Given the description of an element on the screen output the (x, y) to click on. 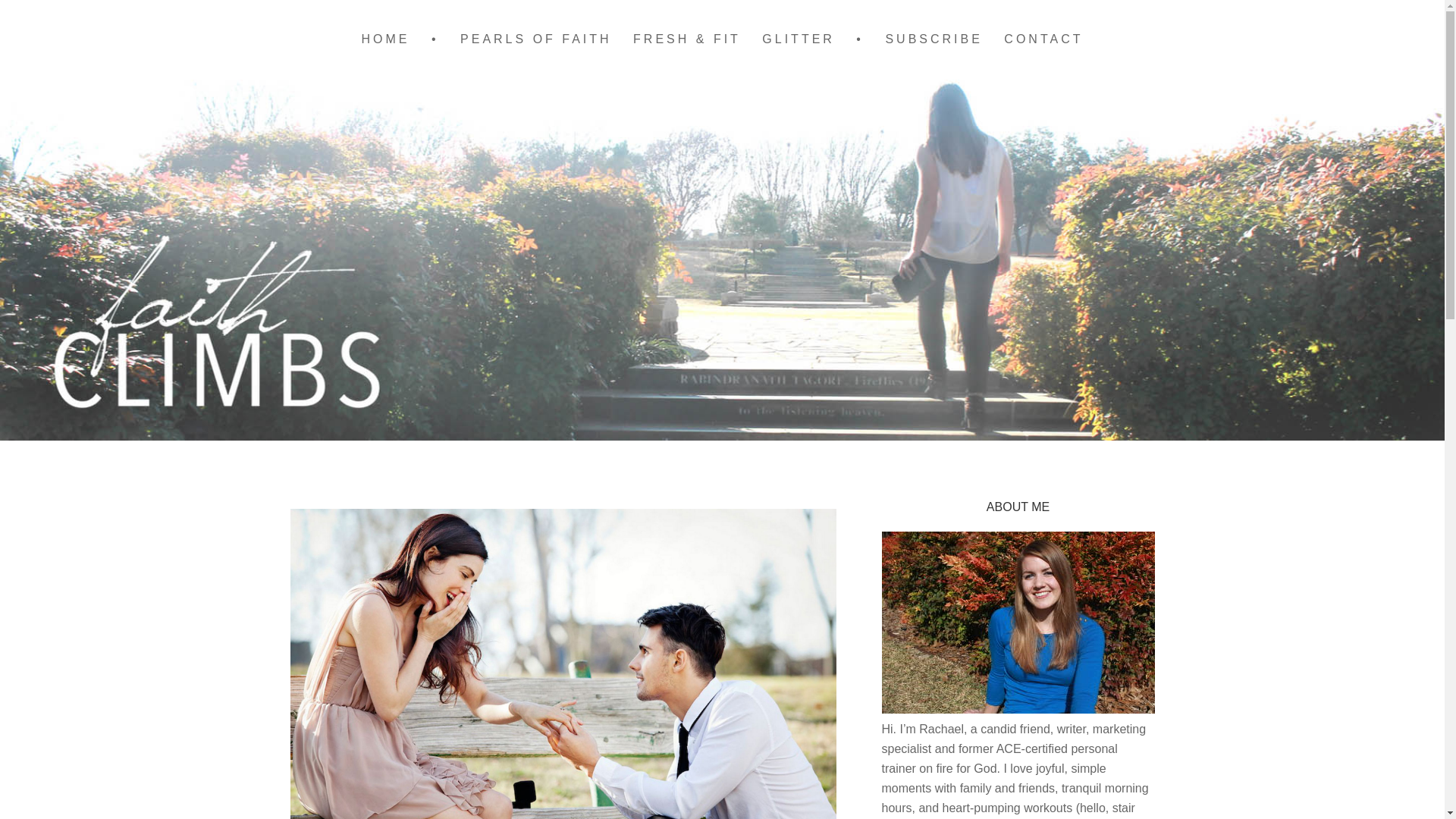
PEARLS OF FAITH (536, 39)
SUBSCRIBE (933, 39)
HOME (385, 39)
CONTACT (1043, 39)
nomargin (859, 39)
GLITTER (798, 39)
nomargin (435, 39)
